Given the description of an element on the screen output the (x, y) to click on. 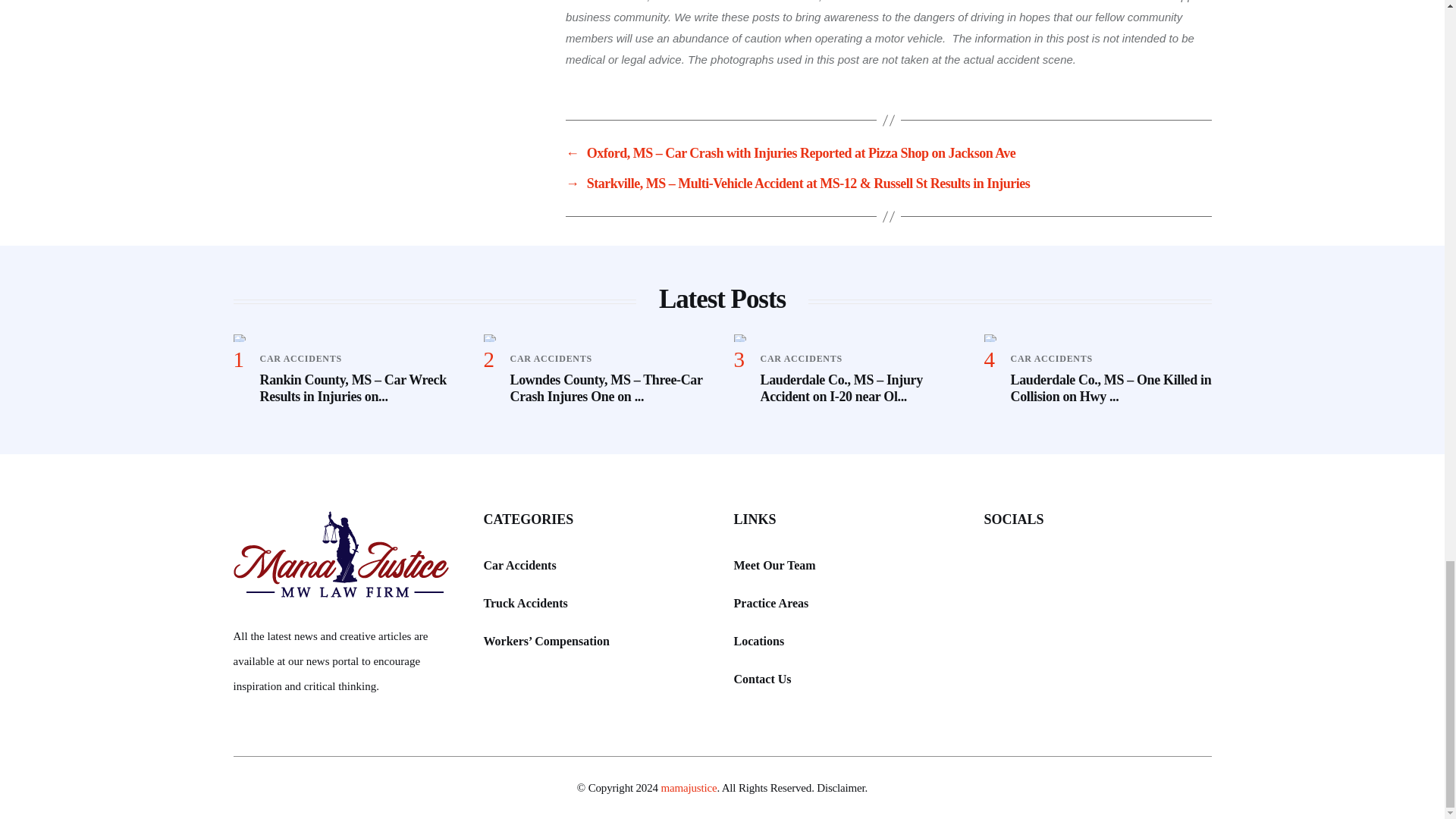
CAR ACCIDENTS (299, 357)
CAR ACCIDENTS (800, 357)
CAR ACCIDENTS (550, 357)
CAR ACCIDENTS (1051, 357)
Car Accidents (519, 565)
